Given the description of an element on the screen output the (x, y) to click on. 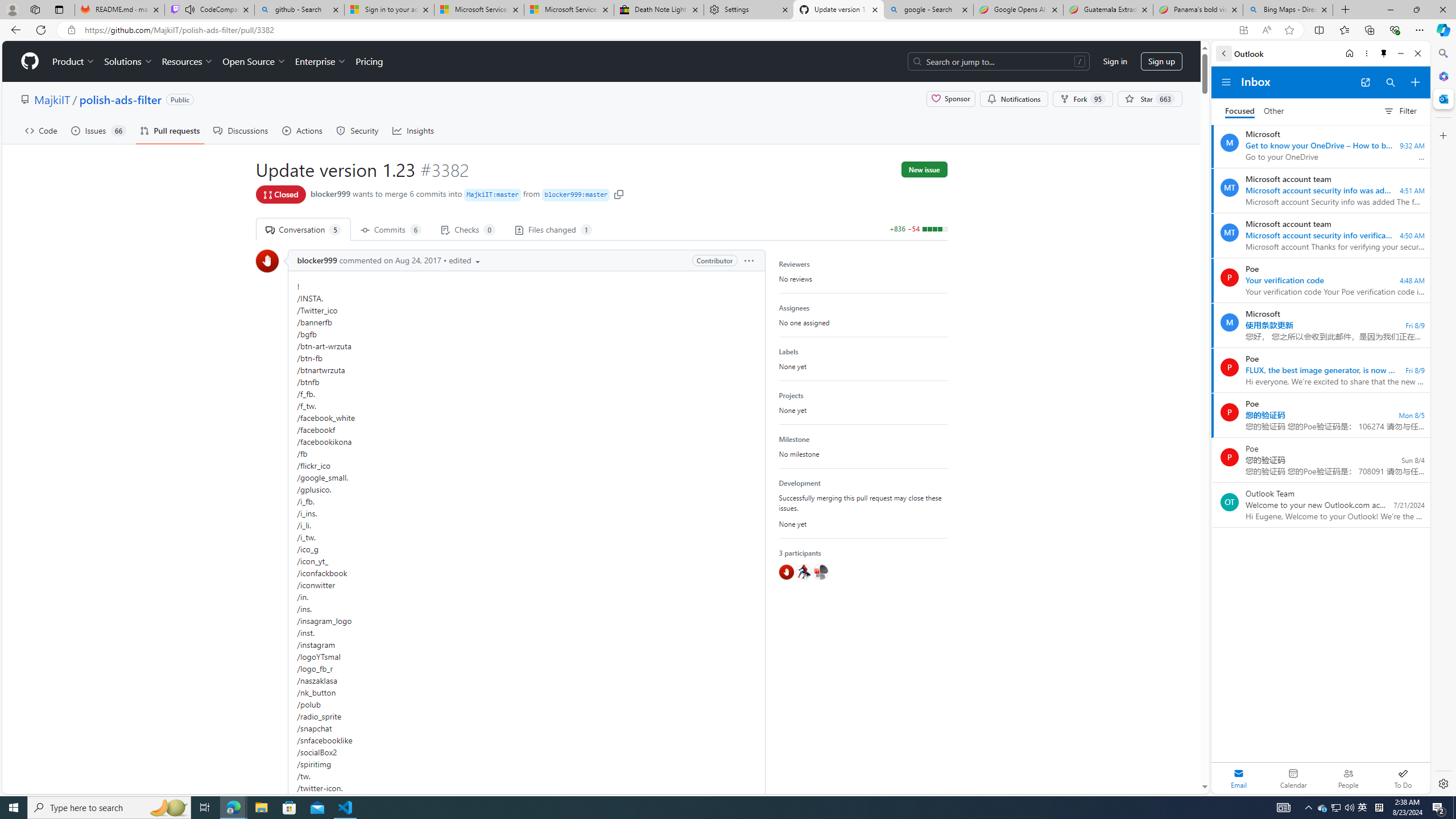
polish-ads-filter (119, 99)
Mute tab (189, 8)
Actions (302, 130)
 Files changed 1 (552, 228)
 Star 663 (1150, 98)
 Commits 6 (390, 228)
New issue (924, 169)
Security (357, 130)
 Conversation 5 (302, 228)
